Given the description of an element on the screen output the (x, y) to click on. 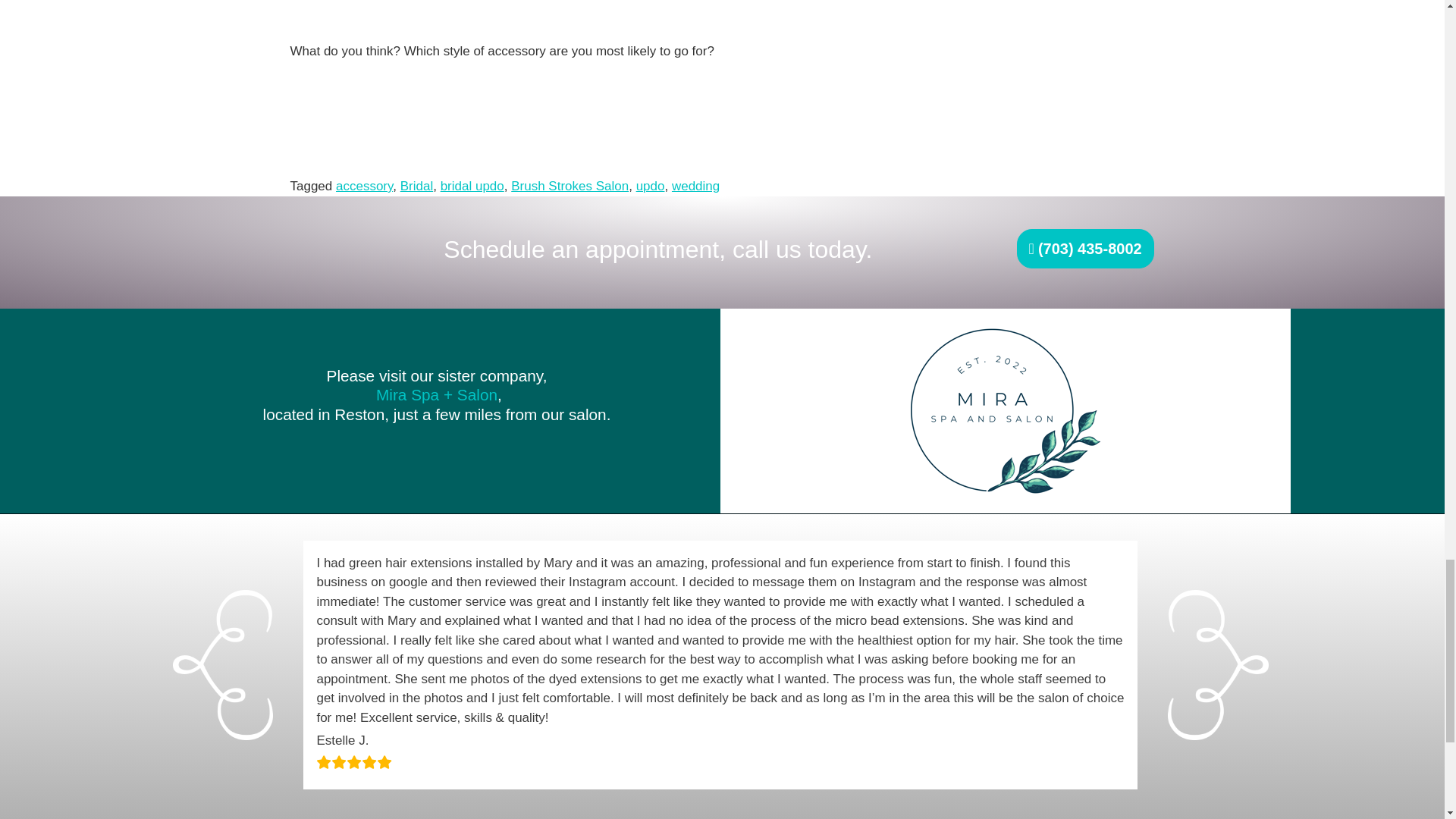
Bridal (416, 186)
bridal updo (472, 186)
updo (650, 186)
wedding (695, 186)
Brush Strokes Salon (569, 186)
accessory (364, 186)
